Given the description of an element on the screen output the (x, y) to click on. 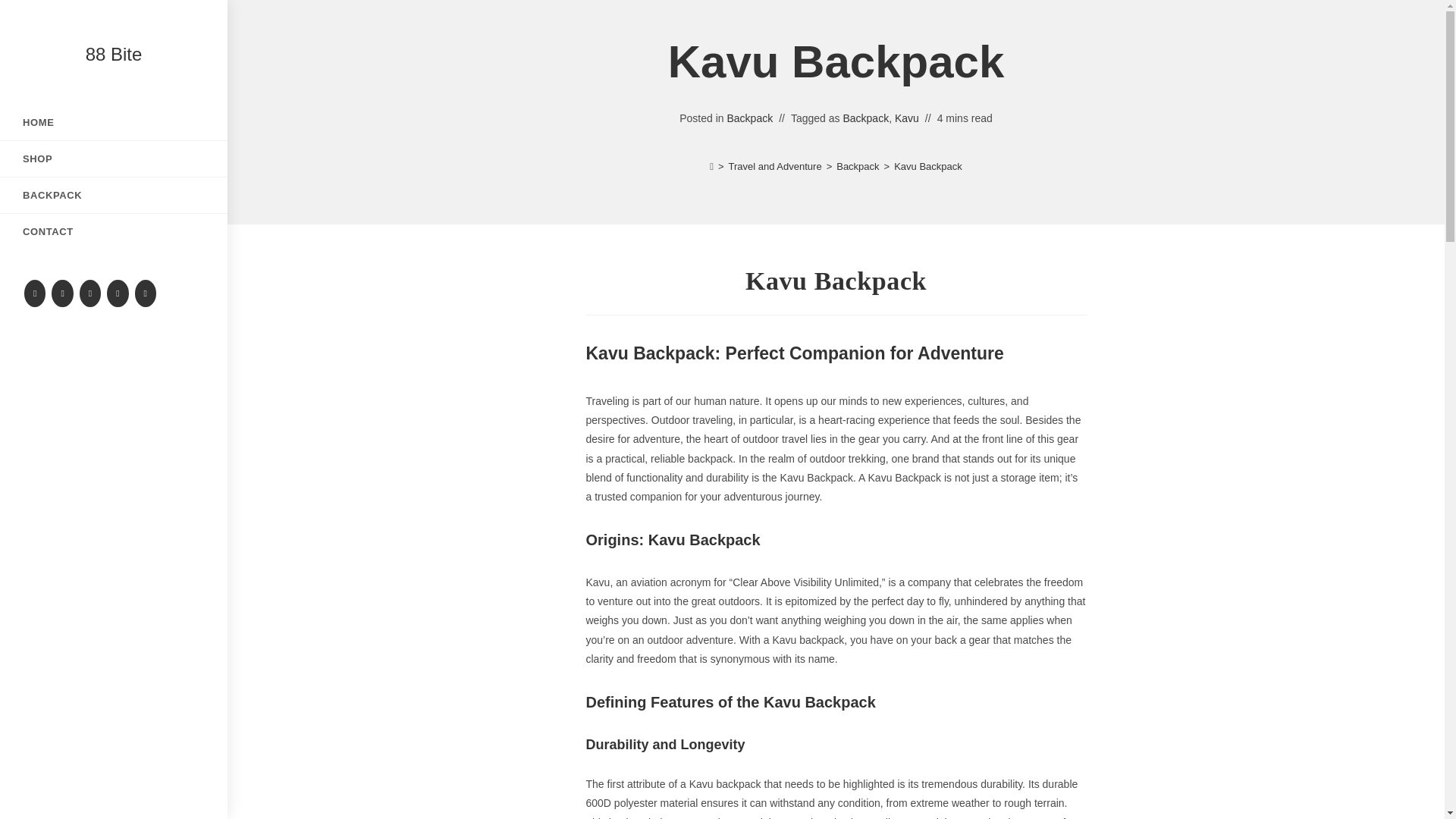
Travel and Adventure (775, 165)
CONTACT (113, 231)
Kavu Backpack (927, 165)
Backpack (865, 118)
Backpack (749, 118)
HOME (113, 122)
BACKPACK (113, 194)
SHOP (113, 158)
Kavu (906, 118)
Backpack (857, 165)
